Given the description of an element on the screen output the (x, y) to click on. 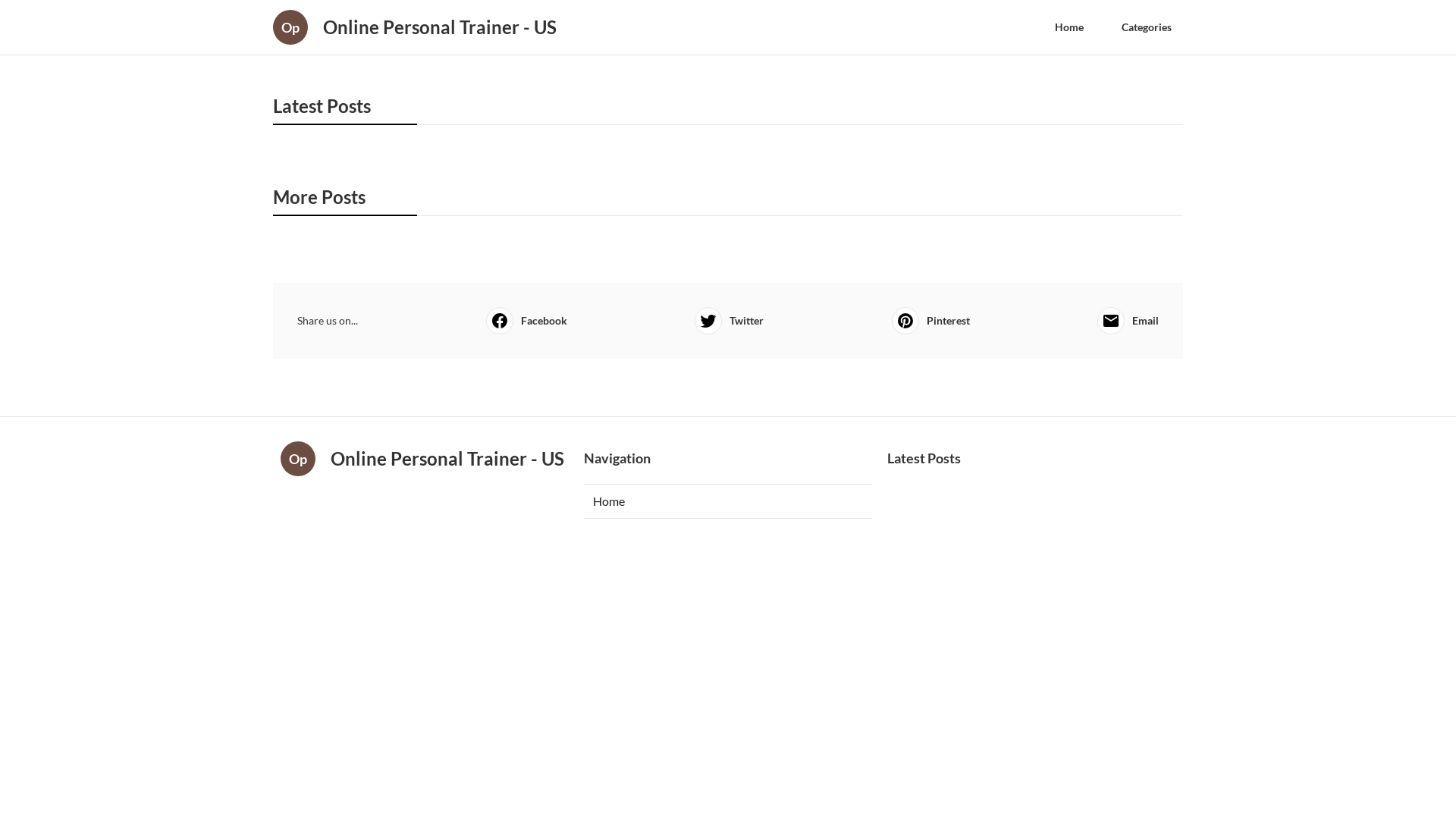
Email Element type: text (1127, 320)
Home Element type: text (727, 500)
Pinterest Element type: text (930, 320)
Categories Element type: text (1146, 26)
Home Element type: text (1069, 26)
Facebook Element type: text (525, 320)
Twitter Element type: text (728, 320)
